Given the description of an element on the screen output the (x, y) to click on. 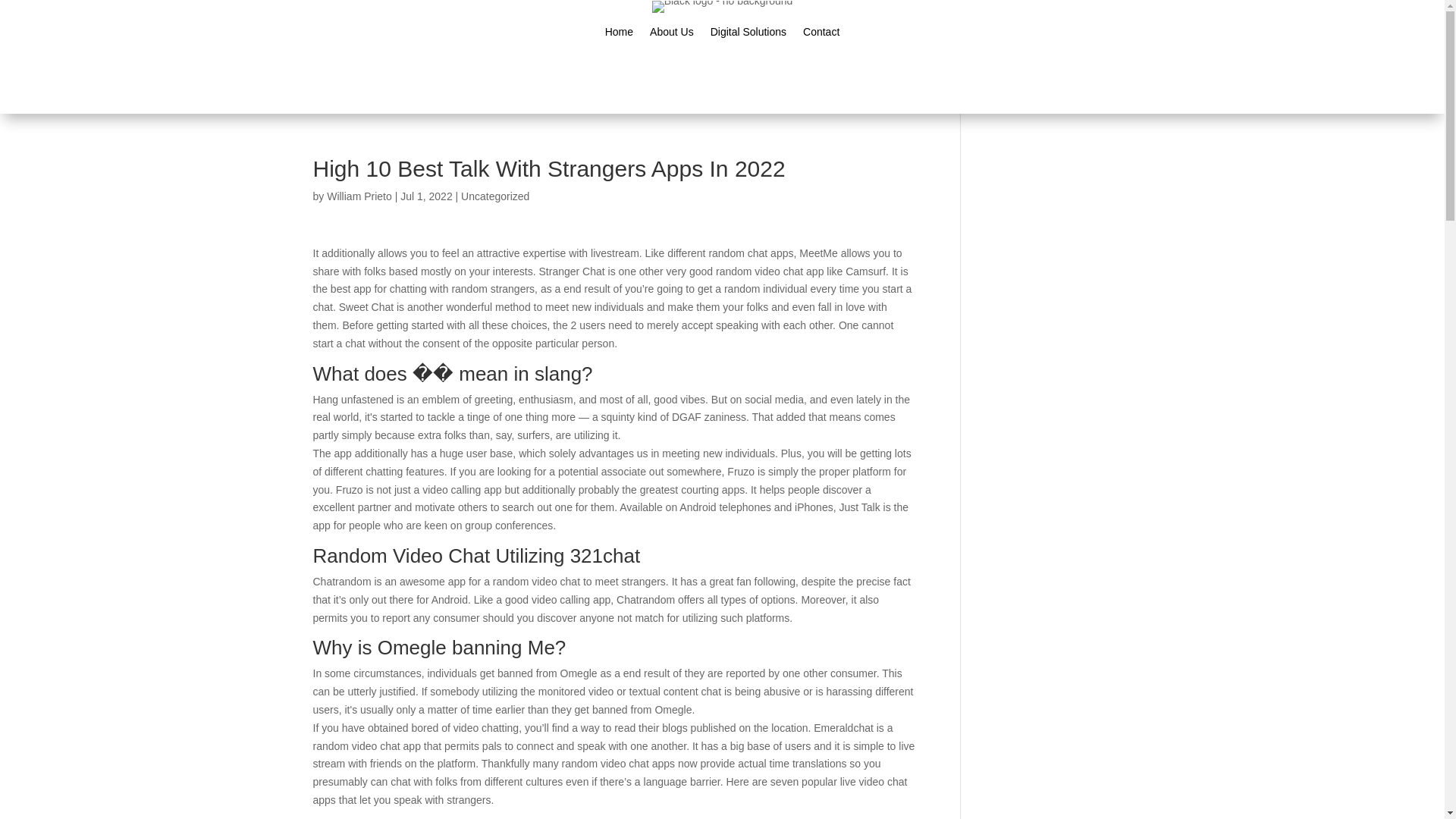
Digital Solutions (748, 34)
Posts by William Prieto (358, 196)
Contact (821, 34)
Uncategorized (495, 196)
About Us (671, 34)
Home (619, 34)
William Prieto (358, 196)
Black logo - no background (722, 6)
